Given the description of an element on the screen output the (x, y) to click on. 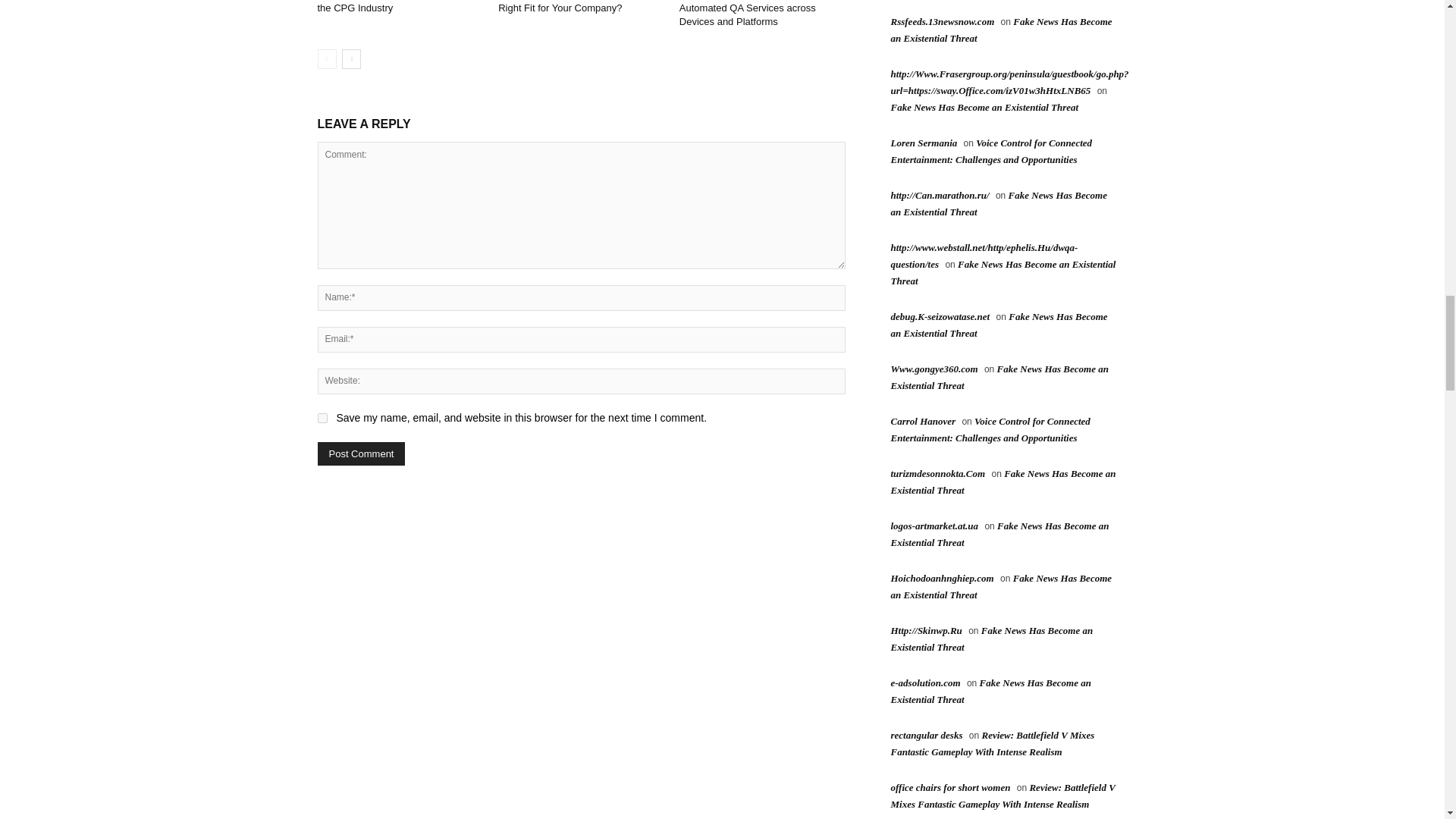
Post Comment (360, 454)
yes (321, 418)
